Given the description of an element on the screen output the (x, y) to click on. 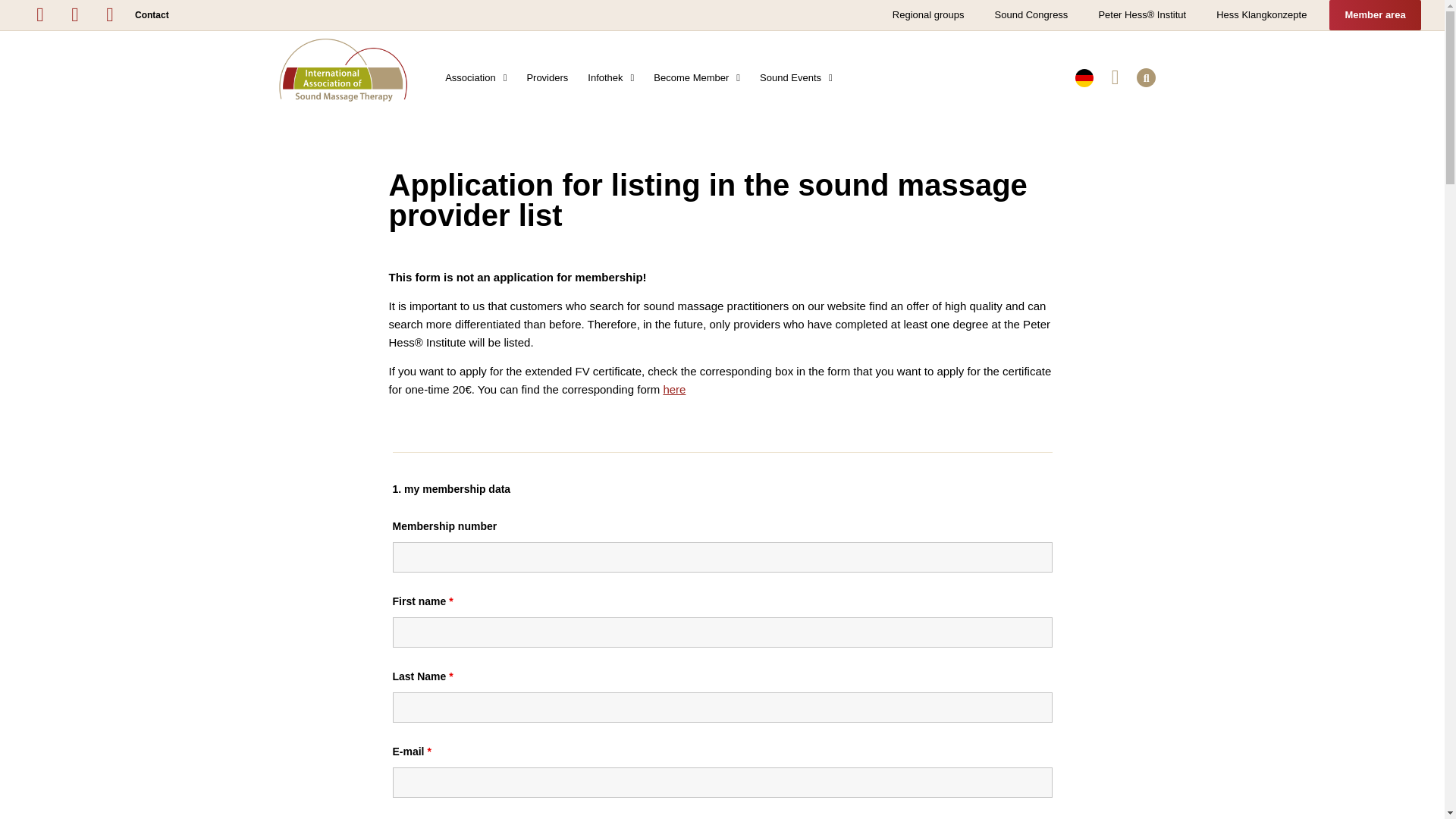
Member area (1374, 15)
Association (475, 77)
Sound Events (796, 77)
Infothek (610, 77)
Providers (547, 77)
Hess Klangkonzepte (1261, 15)
Sound Congress (1031, 15)
Become Member (696, 77)
Regional groups (928, 15)
Contact (151, 14)
